Given the description of an element on the screen output the (x, y) to click on. 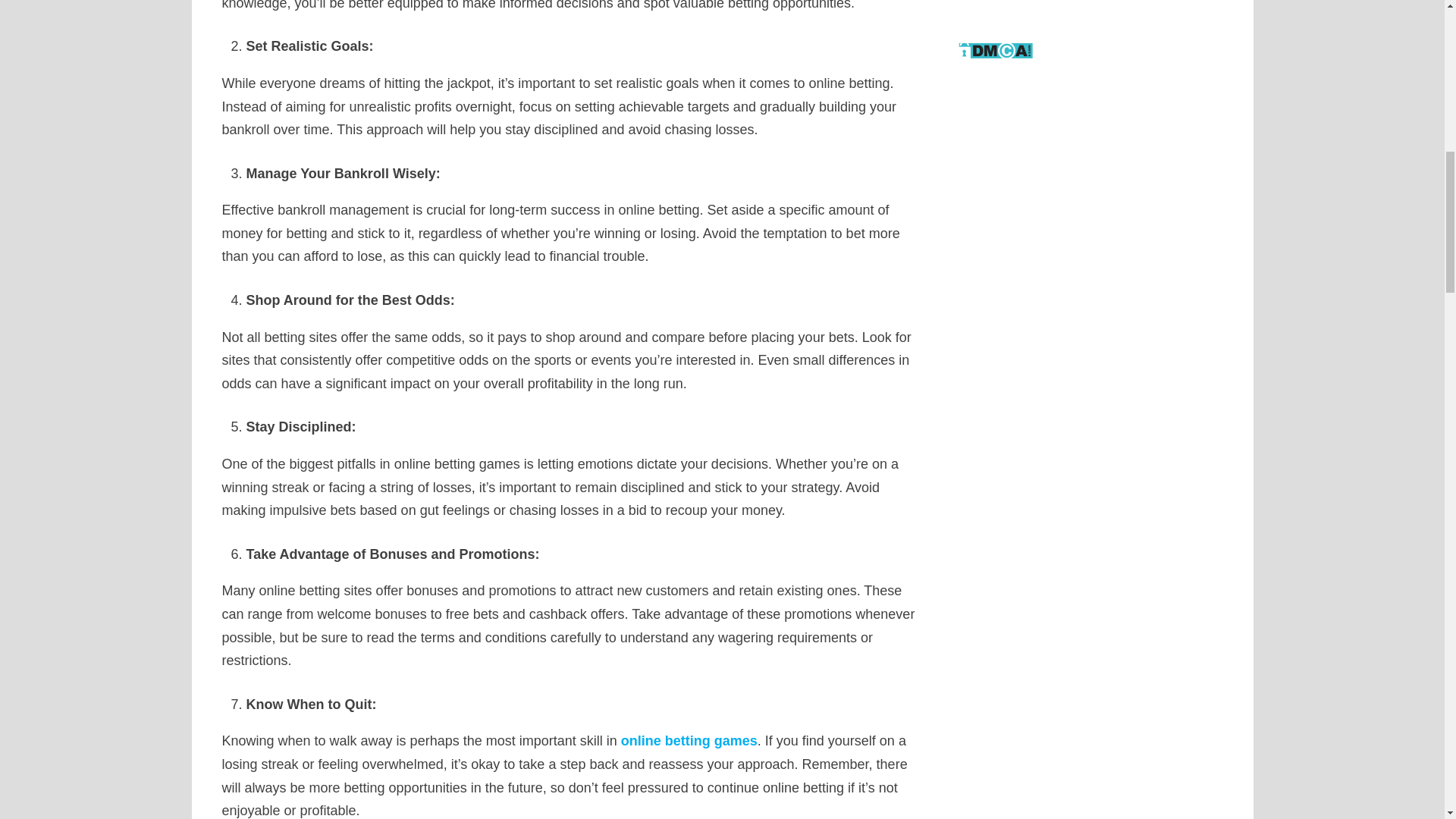
DMCA.com Protection Status (995, 48)
online betting games (689, 740)
